Given the description of an element on the screen output the (x, y) to click on. 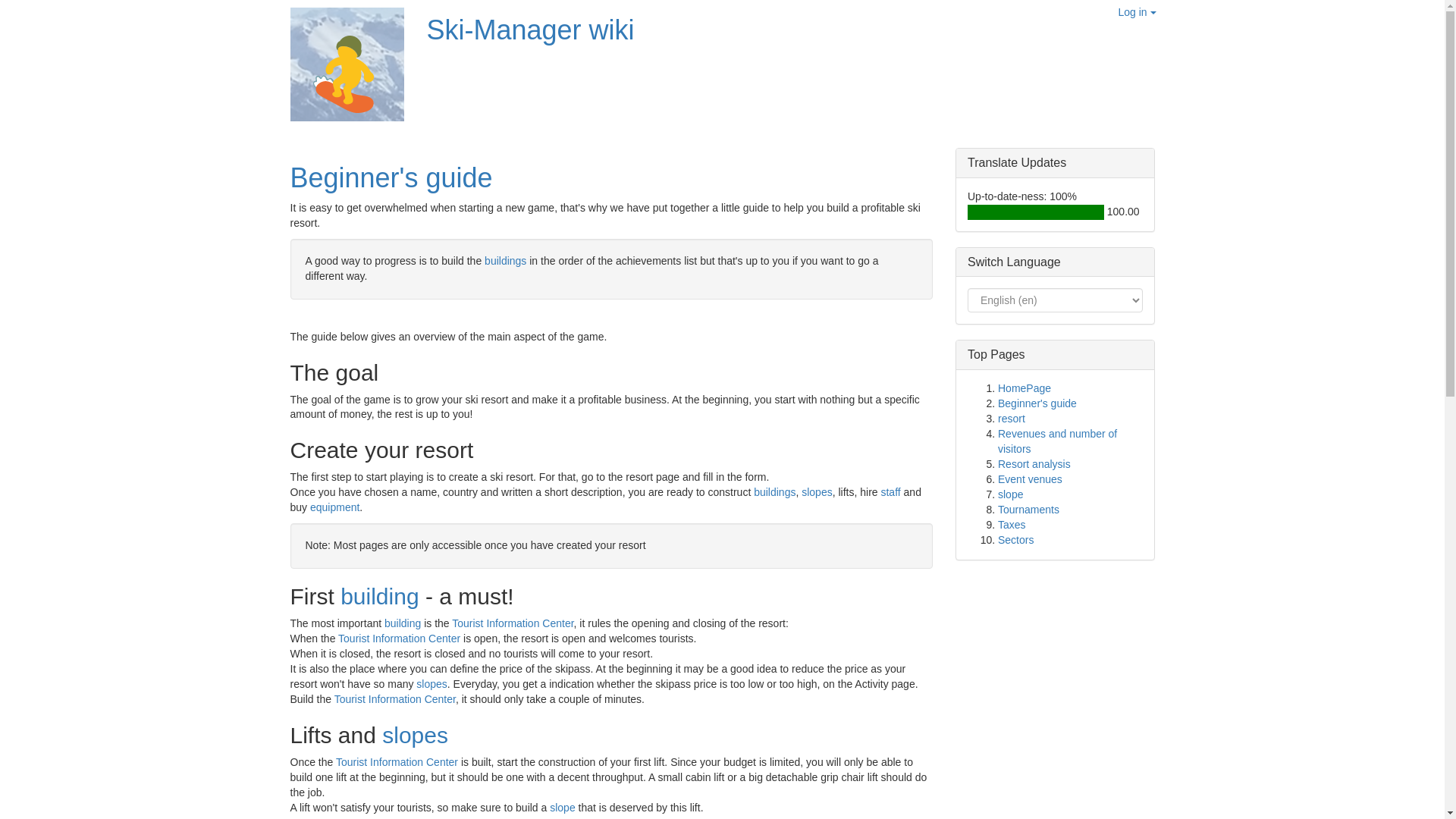
building (402, 623)
slopes (816, 491)
slopes (431, 684)
Beginner's guide (390, 177)
Tourist Information Center (397, 761)
buildings (504, 260)
Tourist Information Center (512, 623)
equipment (334, 507)
Ski-Manager wiki (529, 29)
staff (889, 491)
